Given the description of an element on the screen output the (x, y) to click on. 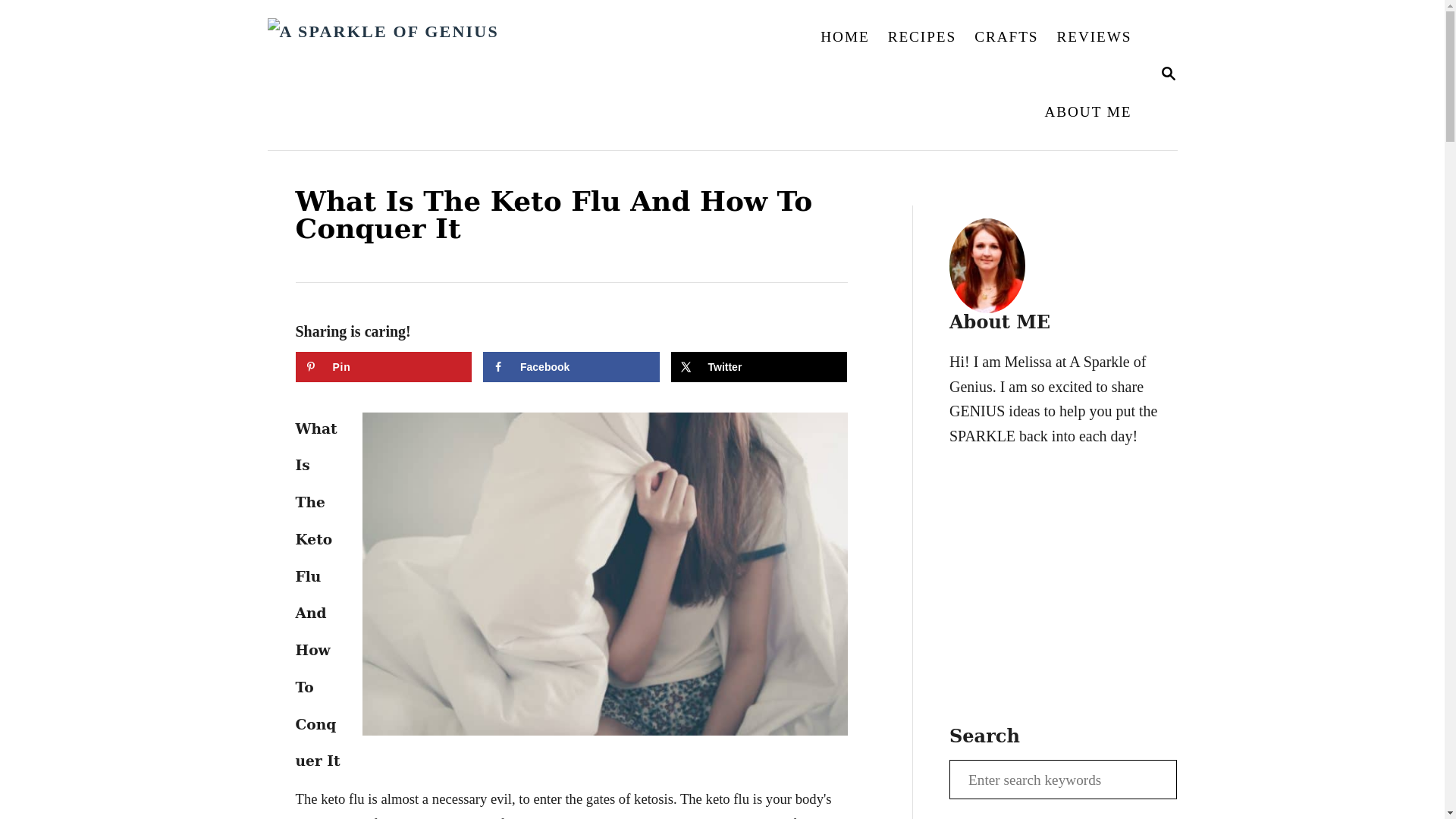
HOME (843, 36)
ABOUT ME (1087, 112)
Share on X (758, 367)
Facebook (571, 367)
REVIEWS (1093, 36)
CRAFTS (1005, 36)
Pin (383, 367)
MAGNIFYING GLASS (1167, 73)
Save to Pinterest (383, 367)
RECIPES (922, 36)
